Given the description of an element on the screen output the (x, y) to click on. 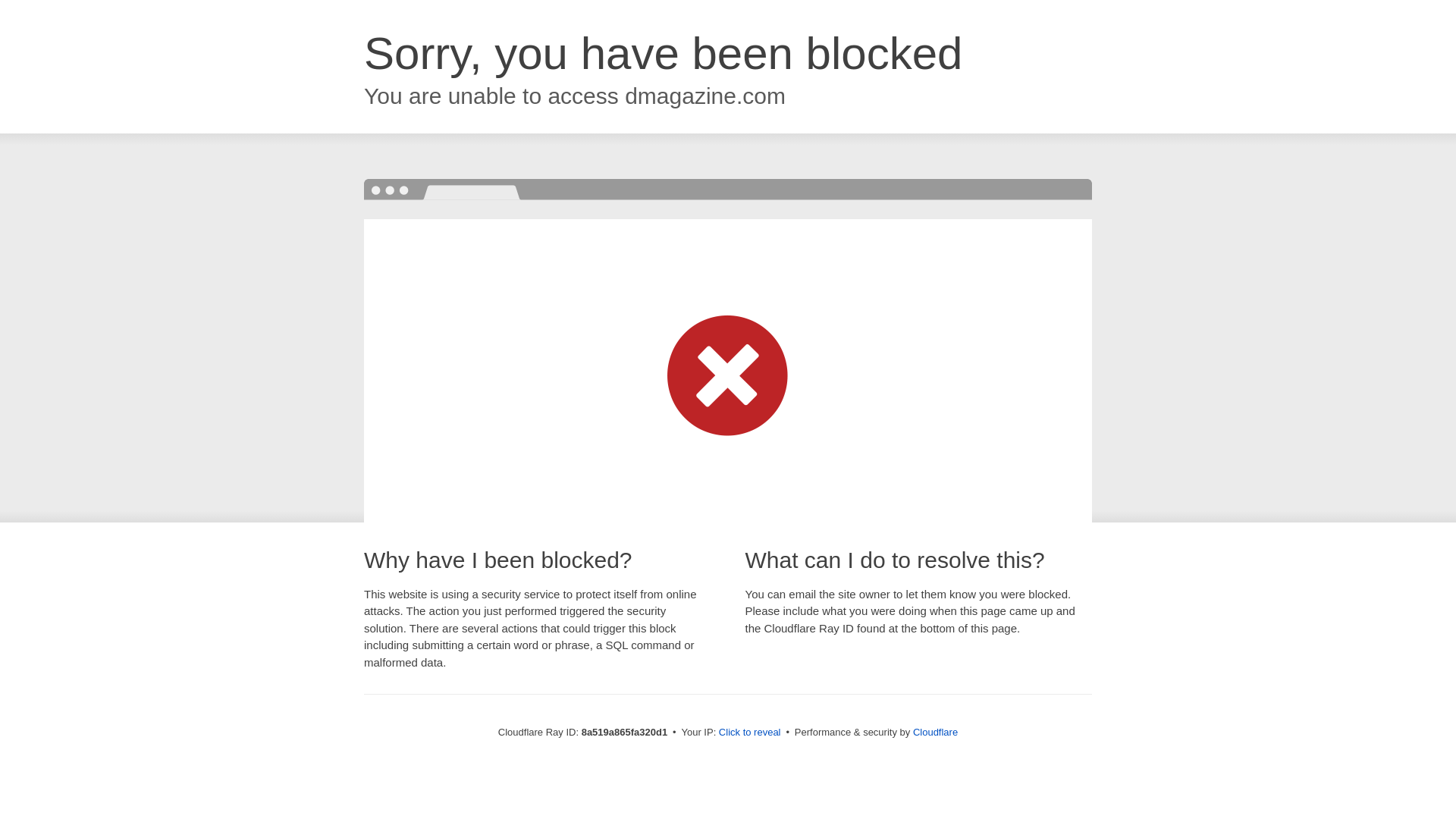
Cloudflare (935, 731)
Click to reveal (749, 732)
